Given the description of an element on the screen output the (x, y) to click on. 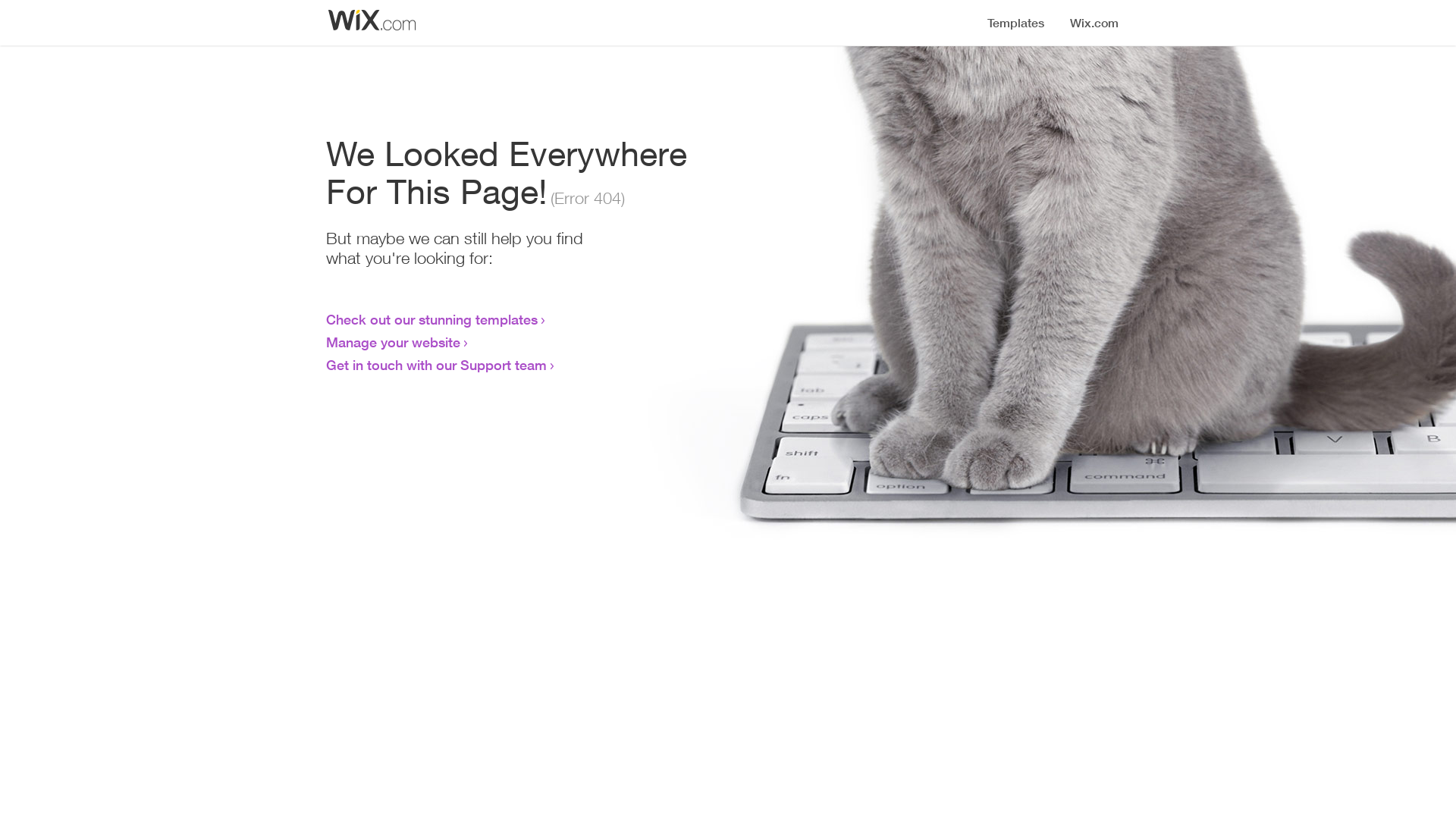
Get in touch with our Support team Element type: text (436, 364)
Manage your website Element type: text (393, 341)
Check out our stunning templates Element type: text (431, 318)
